Given the description of an element on the screen output the (x, y) to click on. 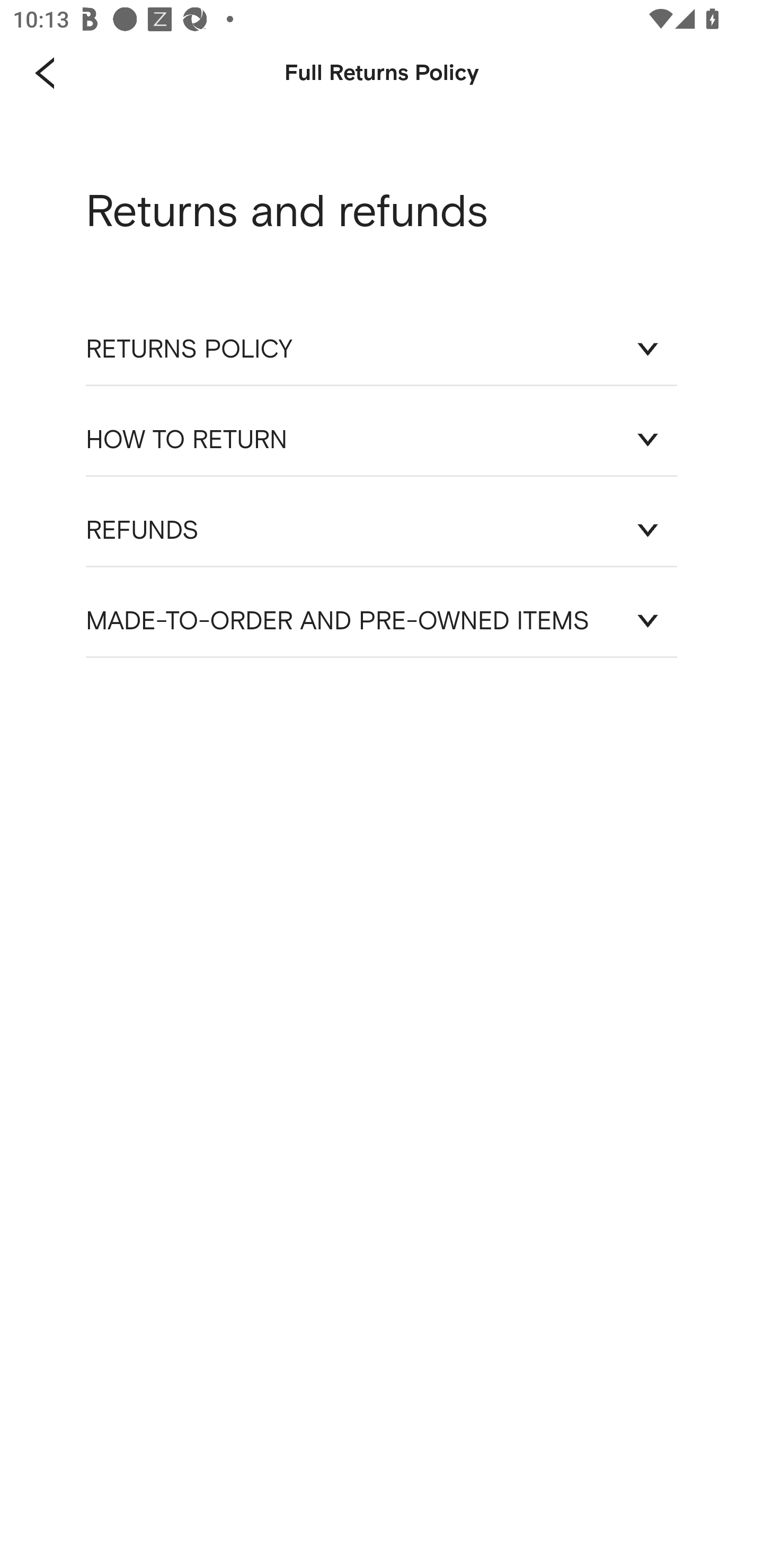
RETURNS POLICY (381, 348)
HOW TO RETURN (381, 438)
REFUNDS (381, 529)
MADE-TO-ORDER AND PRE-OWNED ITEMS (381, 620)
